Given the description of an element on the screen output the (x, y) to click on. 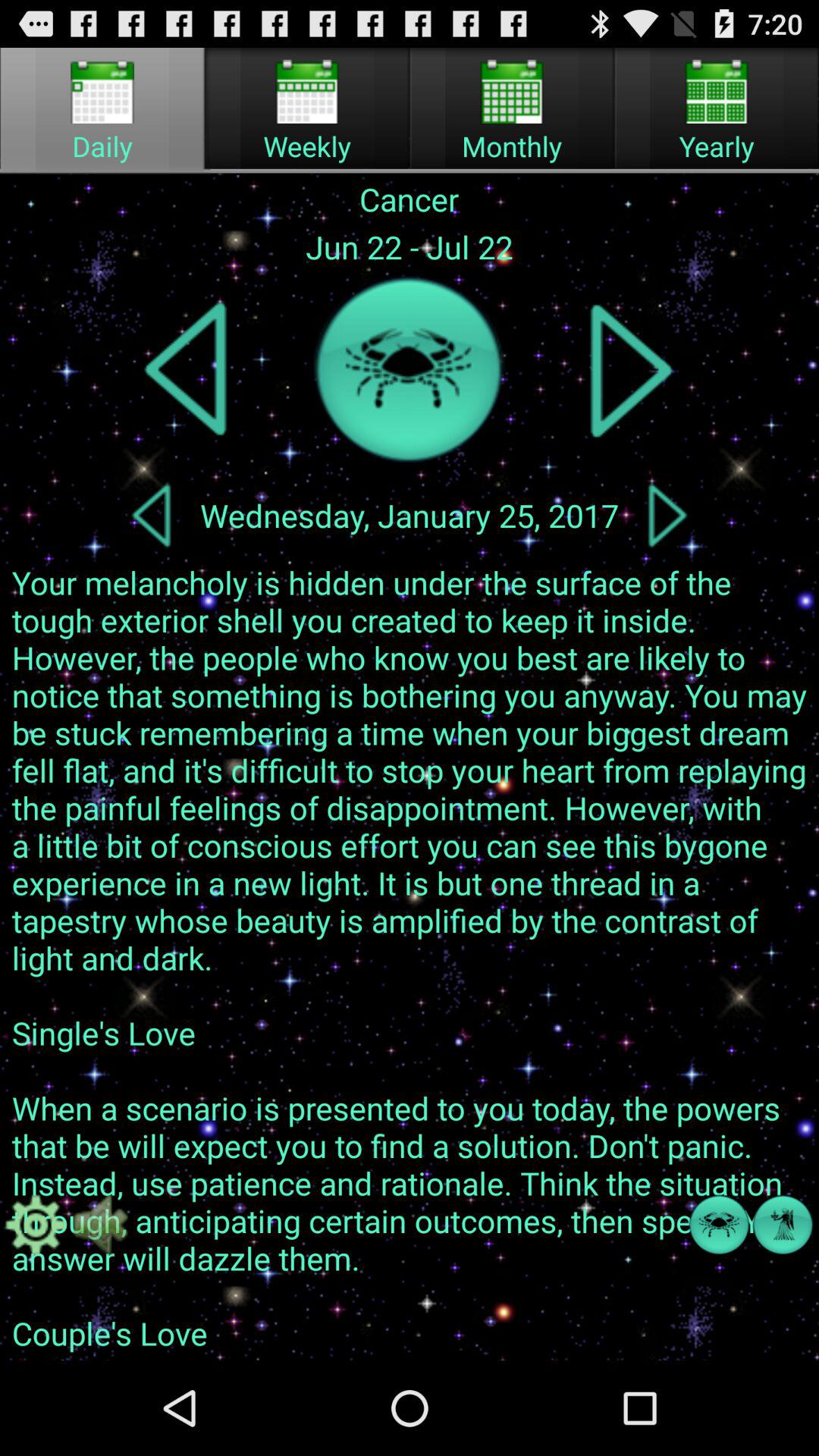
go to previous zodiac sign (187, 369)
